Given the description of an element on the screen output the (x, y) to click on. 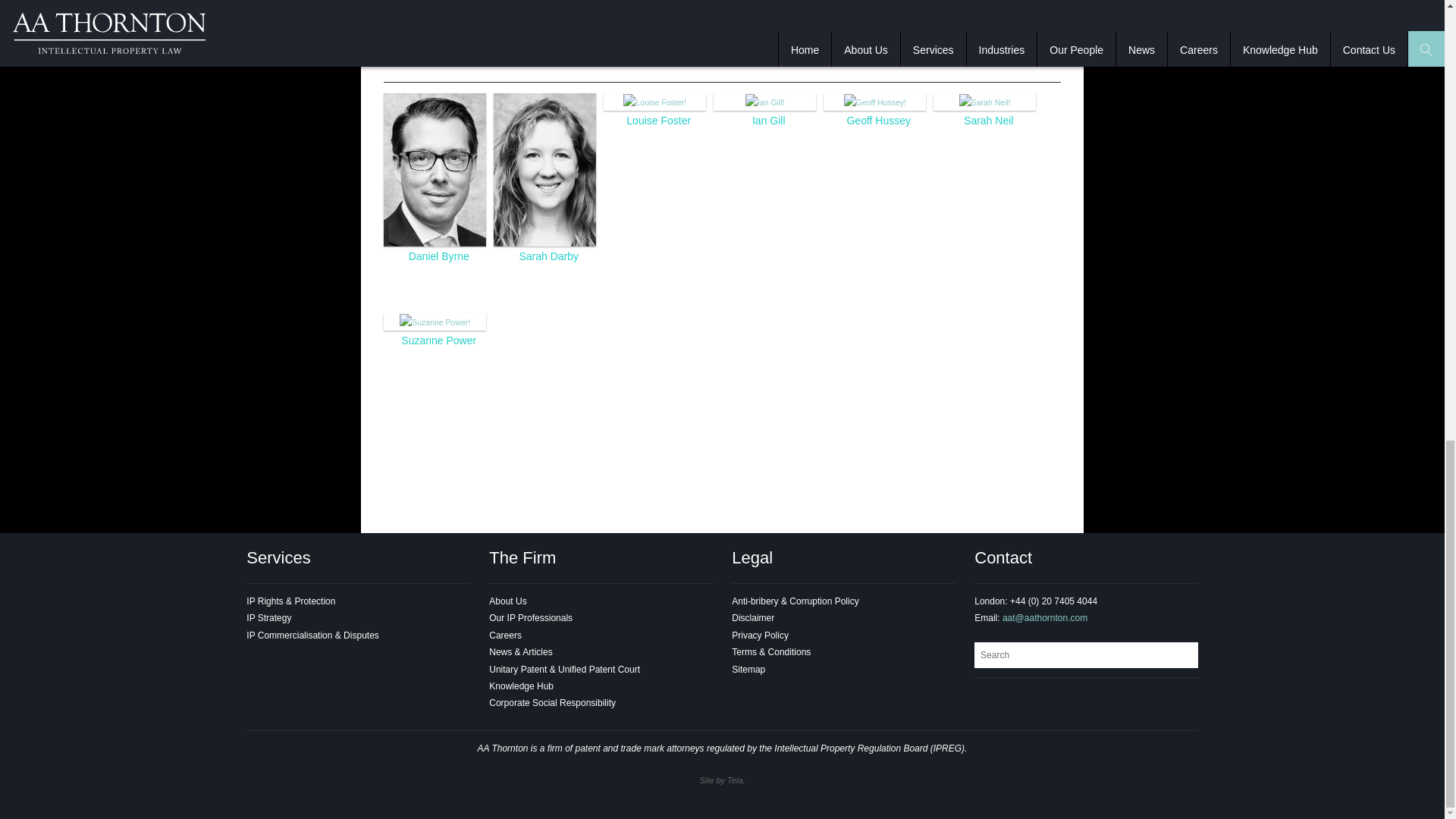
Attorney: Daniel Byrne (438, 256)
Attorney: Louise Foster (658, 120)
Attorney: Sarah Darby (548, 256)
Attorney: Sarah Darby (544, 168)
Attorney: Geoff Hussey (878, 120)
Attorney: Ian Gill (769, 120)
Attorney: Sarah Neil (988, 120)
Attorney: Suzanne Power (434, 320)
Attorney: Louise Foster (654, 101)
Attorney: Geoff Hussey (874, 101)
